Given the description of an element on the screen output the (x, y) to click on. 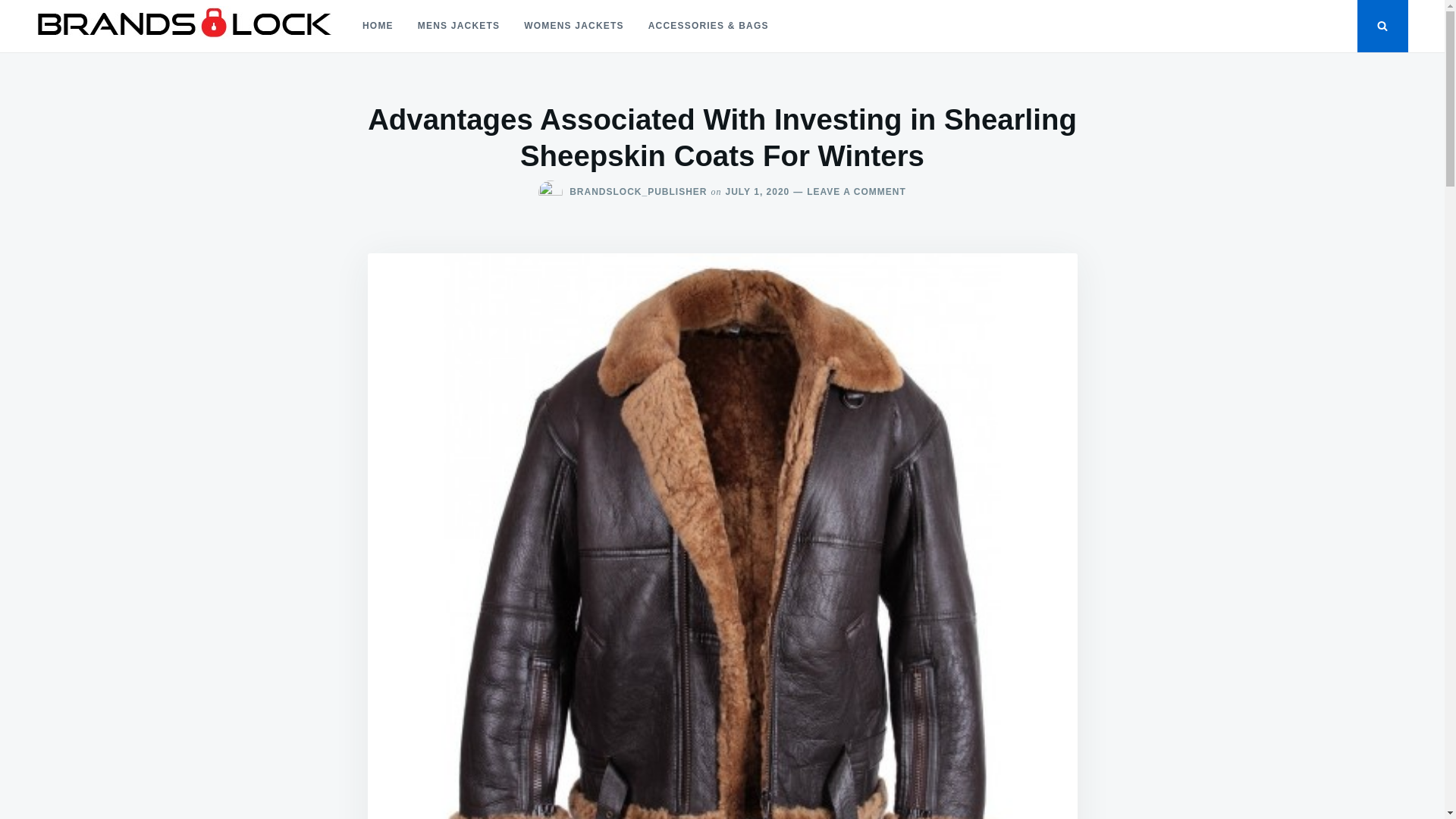
MENS JACKETS (459, 25)
WOMENS JACKETS (573, 25)
JULY 1, 2020 (757, 191)
HOME (378, 25)
